Given the description of an element on the screen output the (x, y) to click on. 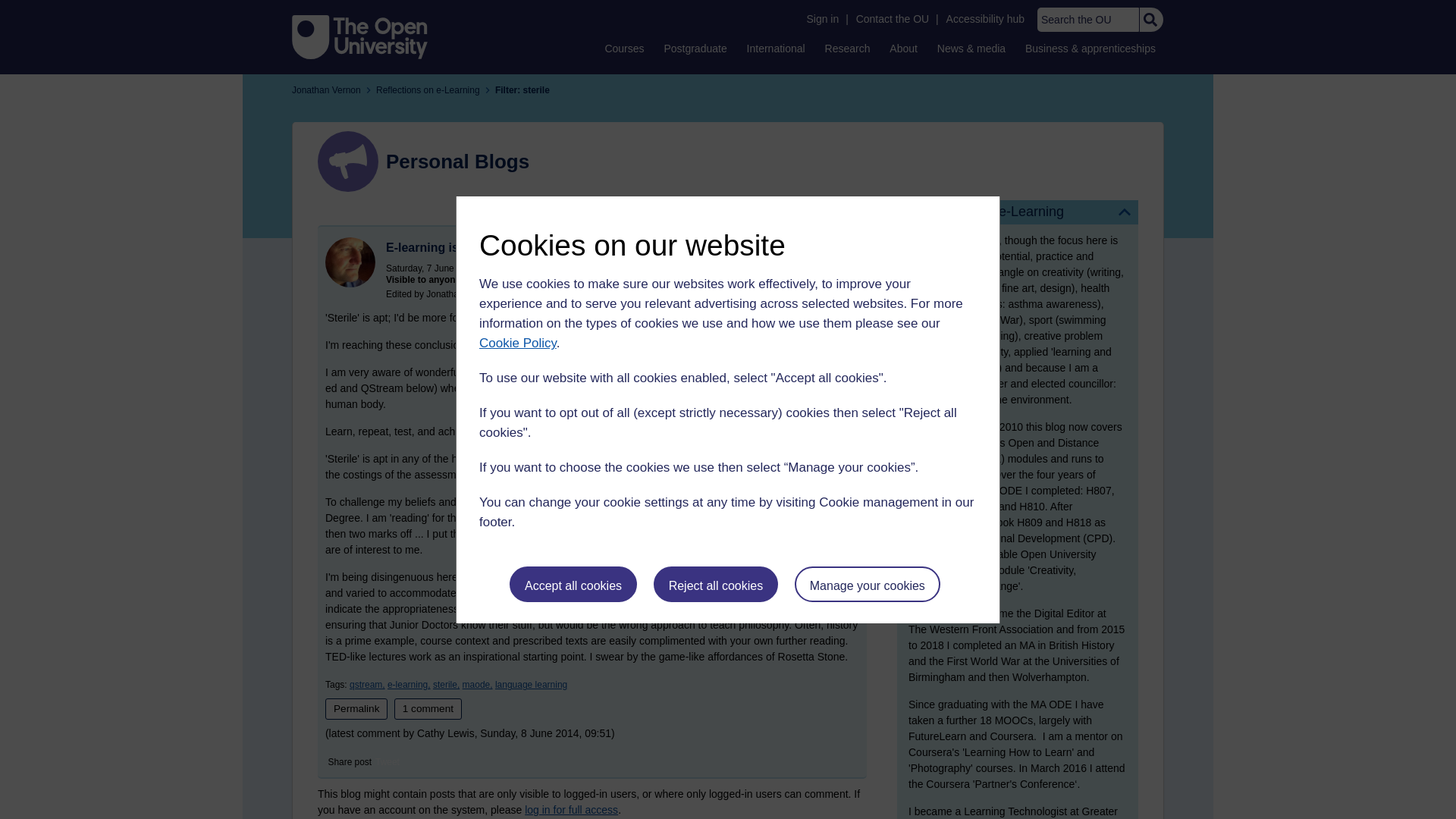
Accept all cookies (573, 583)
Research (847, 48)
Reflections on e-Learning (1017, 211)
International (775, 48)
The Open University (360, 36)
About (903, 48)
Sign in (822, 19)
Contact the OU (892, 19)
Postgraduate (695, 48)
Courses (623, 48)
Cookie Policy (517, 342)
Search (1149, 19)
Accessibility hub (985, 19)
Reject all cookies (715, 583)
